Given the description of an element on the screen output the (x, y) to click on. 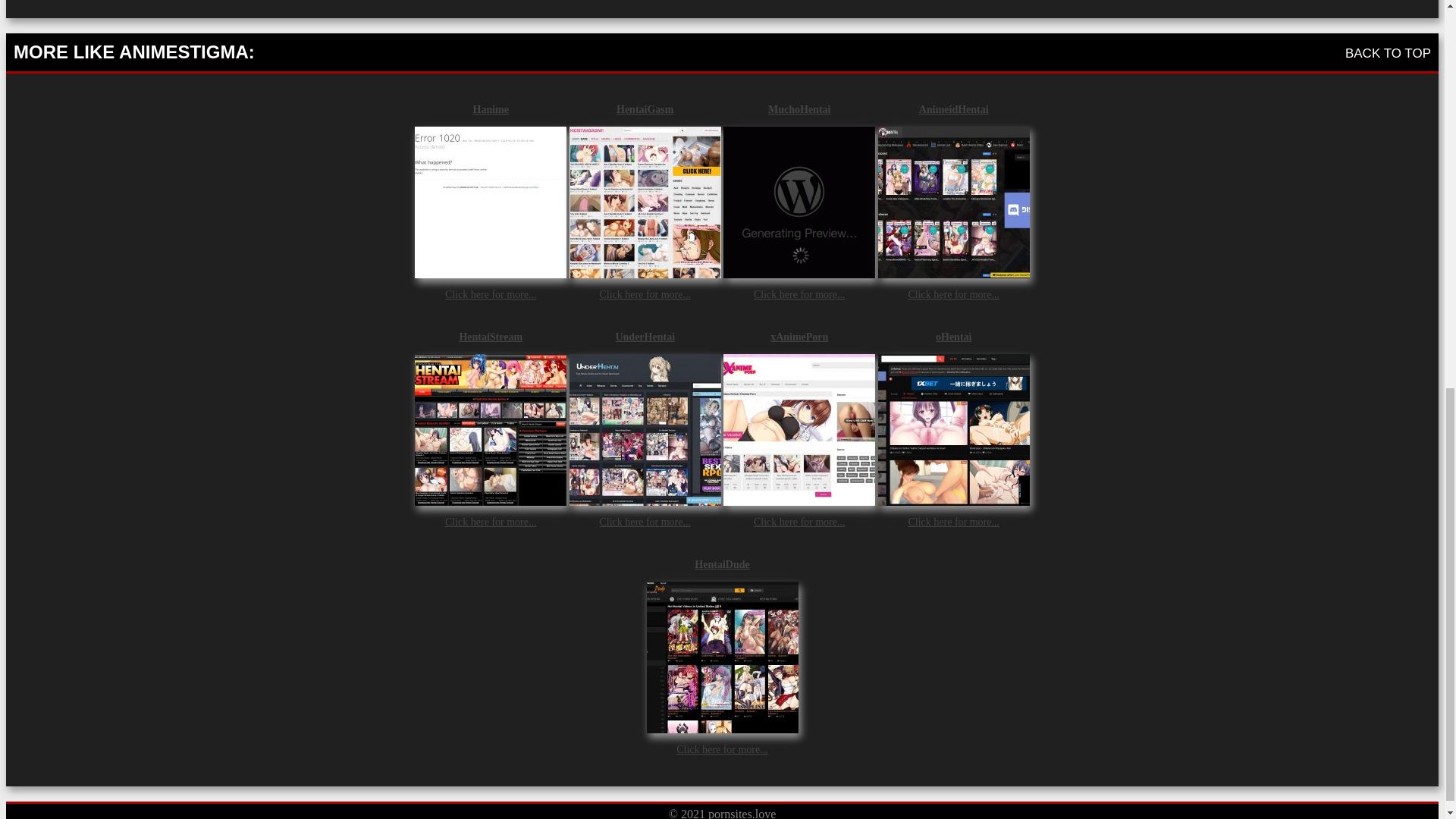
BACK TO TOP (1388, 52)
HentaiGasm (644, 109)
MuchoHentai (799, 109)
HentaiDude (721, 563)
Click here for more... (799, 293)
Click here for more... (952, 293)
HentaiStream (490, 336)
Click here for more... (644, 521)
Click here for more... (644, 293)
Click here for more... (952, 521)
xAnimePorn (799, 336)
Click here for more... (799, 521)
AnimeidHentai (953, 109)
Hanime (490, 109)
Click here for more... (491, 293)
